Given the description of an element on the screen output the (x, y) to click on. 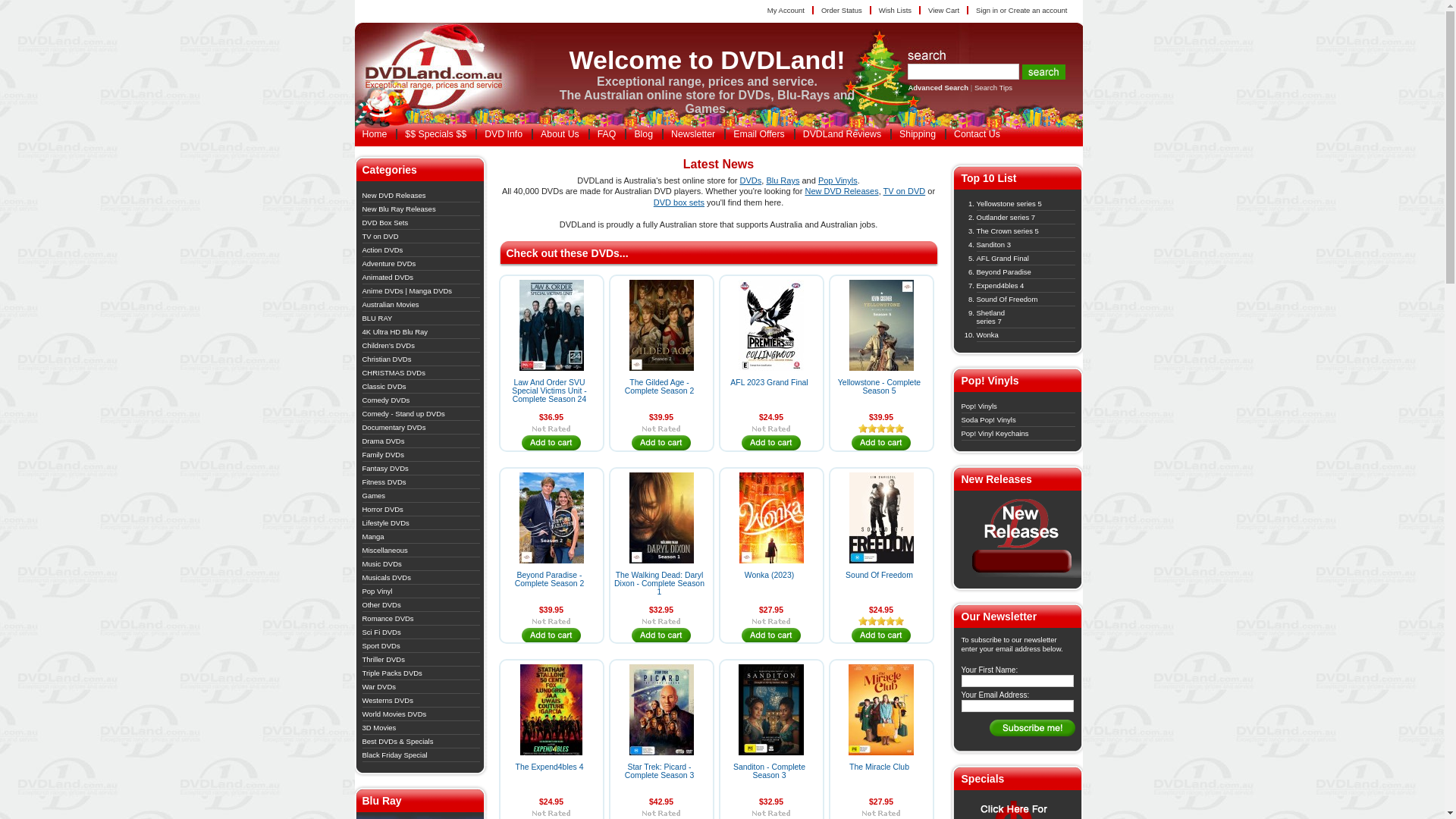
Fantasy DVDs Element type: text (385, 468)
Sanditon 3 Element type: text (993, 244)
The Expend4bles 4 Element type: text (549, 766)
Contact Us Element type: text (975, 133)
Games Element type: text (373, 495)
Anime DVDs | Manga DVDs Element type: text (407, 290)
Sport DVDs Element type: text (381, 645)
Yellowstone series 5 Element type: text (1008, 203)
Fitness DVDs Element type: text (384, 481)
World Movies DVDs Element type: text (394, 713)
Documentary DVDs Element type: text (394, 427)
Sign in Element type: text (986, 10)
                 Element type: text (771, 443)
Christian DVDs Element type: text (386, 358)
Other DVDs Element type: text (381, 604)
3D Movies Element type: text (379, 727)
Children's DVDs Element type: text (388, 345)
Australian Movies Element type: text (390, 304)
DVD Info Element type: text (502, 133)
Romance DVDs Element type: text (388, 618)
The Walking Dead: Daryl Dixon - Complete Season 1 Element type: text (659, 583)
Beyond Paradise - Complete Season 2 Element type: text (549, 579)
The Miracle Club Element type: text (879, 766)
Best DVDs & Specials Element type: text (397, 741)
Comedy DVDs Element type: text (386, 399)
Family DVDs Element type: text (383, 454)
Outlander series 7 Element type: text (1005, 217)
Pop Vinyl Element type: text (377, 590)
TV on DVD Element type: text (380, 236)
                 Element type: text (660, 635)
Wonka (2023) Element type: text (768, 575)
Music DVDs Element type: text (381, 563)
CHRISTMAS DVDs Element type: text (393, 372)
Lifestyle DVDs Element type: text (385, 522)
Home Element type: text (374, 133)
DVDs Element type: text (751, 180)
BLU RAY Element type: text (377, 317)
Sanditon - Complete Season 3 Element type: text (769, 770)
DVDLand Reviews Element type: text (840, 133)
Shipping Element type: text (916, 133)
Blu Rays Element type: text (782, 180)
Star Trek: Picard - Complete Season 3 Element type: text (659, 770)
Musicals DVDs Element type: text (386, 577)
Soda Pop! Vinyls Element type: text (988, 419)
New DVD Releases Element type: hover (1021, 575)
Newsletter Element type: text (692, 133)
New DVD Releases Element type: text (394, 195)
Beyond Paradise Element type: text (1003, 271)
The Crown series 5 Element type: text (1007, 230)
                 Element type: text (660, 443)
Action DVDs Element type: text (382, 249)
Order Status Element type: text (842, 10)
$$ Specials $$ Element type: text (434, 133)
The Gilded Age - Complete Season 2 Element type: text (659, 386)
                 Element type: text (880, 443)
Animated DVDs Element type: text (388, 277)
Sound Of Freedom Element type: text (1007, 298)
Manga Element type: text (373, 536)
New Blu Ray Releases Element type: text (399, 208)
                 Element type: text (551, 443)
                 Element type: text (880, 635)
DVD box sets Element type: text (678, 202)
Wonka Element type: text (987, 334)
Pop! Vinyl Keychains Element type: text (995, 433)
Sci Fi DVDs Element type: text (381, 631)
Black Friday Special Element type: text (394, 754)
                 Element type: text (771, 635)
New DVD Releases Element type: text (841, 190)
Create an account Element type: text (1037, 10)
AFL Grand Final Element type: text (1002, 258)
Miscellaneous Element type: text (384, 550)
DVD Box Sets Element type: text (385, 222)
Advanced Search Element type: text (937, 87)
AFL 2023 Grand Final Element type: text (768, 382)
Horror DVDs Element type: text (382, 509)
4K Ultra HD Blu Ray Element type: text (395, 331)
View Cart Element type: text (944, 10)
  Element type: text (441, 71)
My Account Element type: text (786, 10)
Wish Lists Element type: text (895, 10)
Triple Packs DVDs Element type: text (392, 672)
Pop! Vinyls Element type: text (979, 405)
About Us Element type: text (558, 133)
Pop Vinyls Element type: text (837, 180)
Thriller DVDs Element type: text (383, 659)
FAQ Element type: text (606, 133)
Comedy - Stand up DVDs Element type: text (403, 413)
Shetland
series 7 Element type: text (990, 316)
Yellowstone - Complete Season 5 Element type: text (878, 386)
Blog Element type: text (642, 133)
TV on DVD Element type: text (904, 190)
Search Tips Element type: text (993, 87)
Sound Of Freedom Element type: text (879, 575)
Email Offers Element type: text (758, 133)
War DVDs Element type: text (379, 686)
                 Element type: text (551, 635)
Adventure DVDs Element type: text (389, 263)
Law And Order SVU Special Victims Unit - Complete Season 24 Element type: text (548, 390)
Drama DVDs Element type: text (383, 440)
Expend4bles 4 Element type: text (1000, 285)
Classic DVDs Element type: text (384, 386)
Westerns DVDs Element type: text (387, 700)
